Given the description of an element on the screen output the (x, y) to click on. 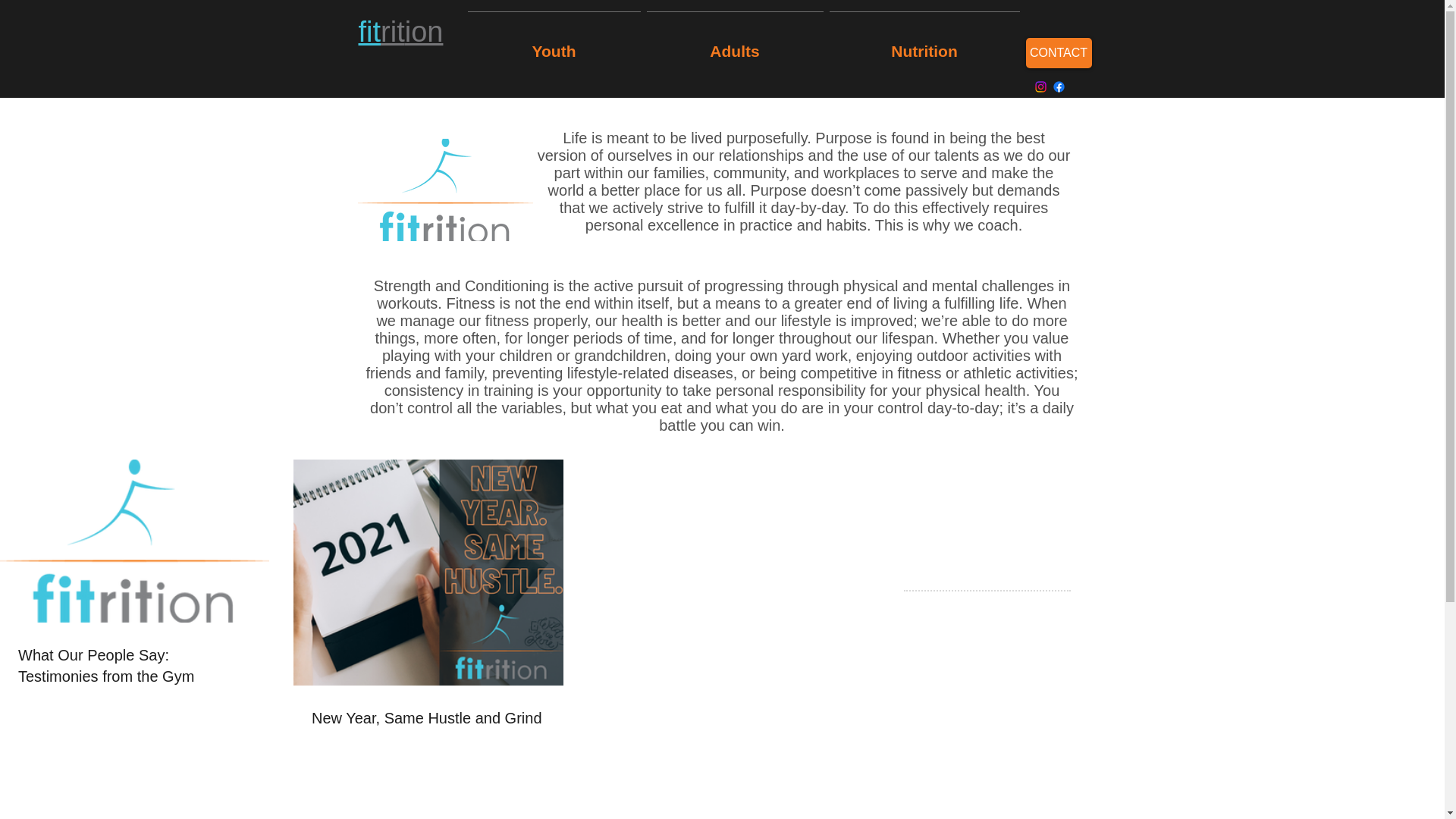
Adults (734, 43)
New Year, Same Hustle and Grind (427, 717)
What Our People Say: Testimonies from the Gym (133, 665)
Nutrition (925, 43)
CONTACT (1057, 52)
Youth (553, 43)
fitrition (400, 31)
